Given the description of an element on the screen output the (x, y) to click on. 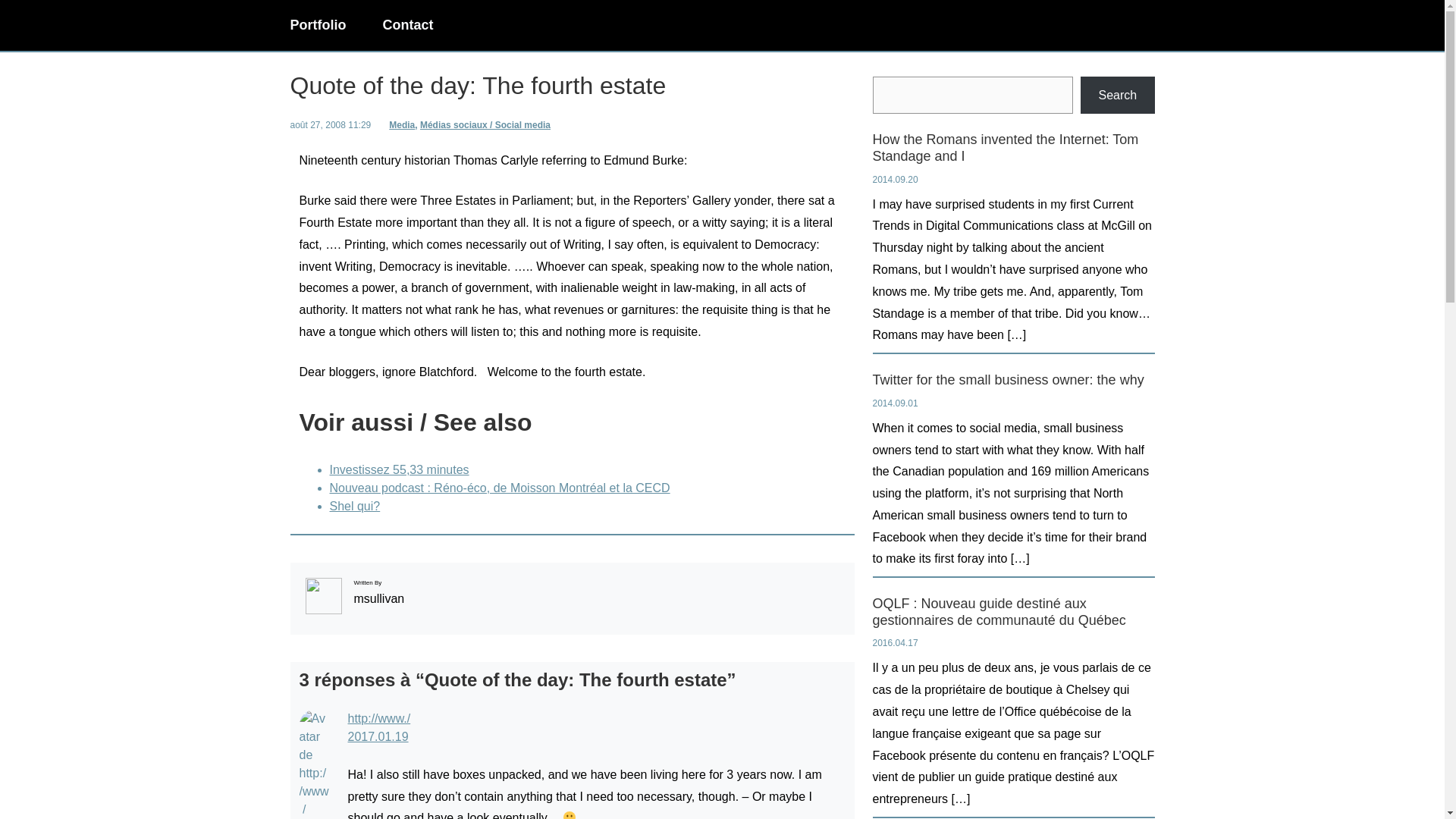
Shel qui? (354, 505)
How the Romans invented the Internet: Tom Standage and I (1013, 147)
Investissez 55,33 minutes (398, 469)
Twitter for the small business owner: the why (1007, 380)
Search (1117, 94)
2017.01.19 (377, 736)
Media (401, 124)
Contact (406, 25)
Portfolio (317, 25)
